Given the description of an element on the screen output the (x, y) to click on. 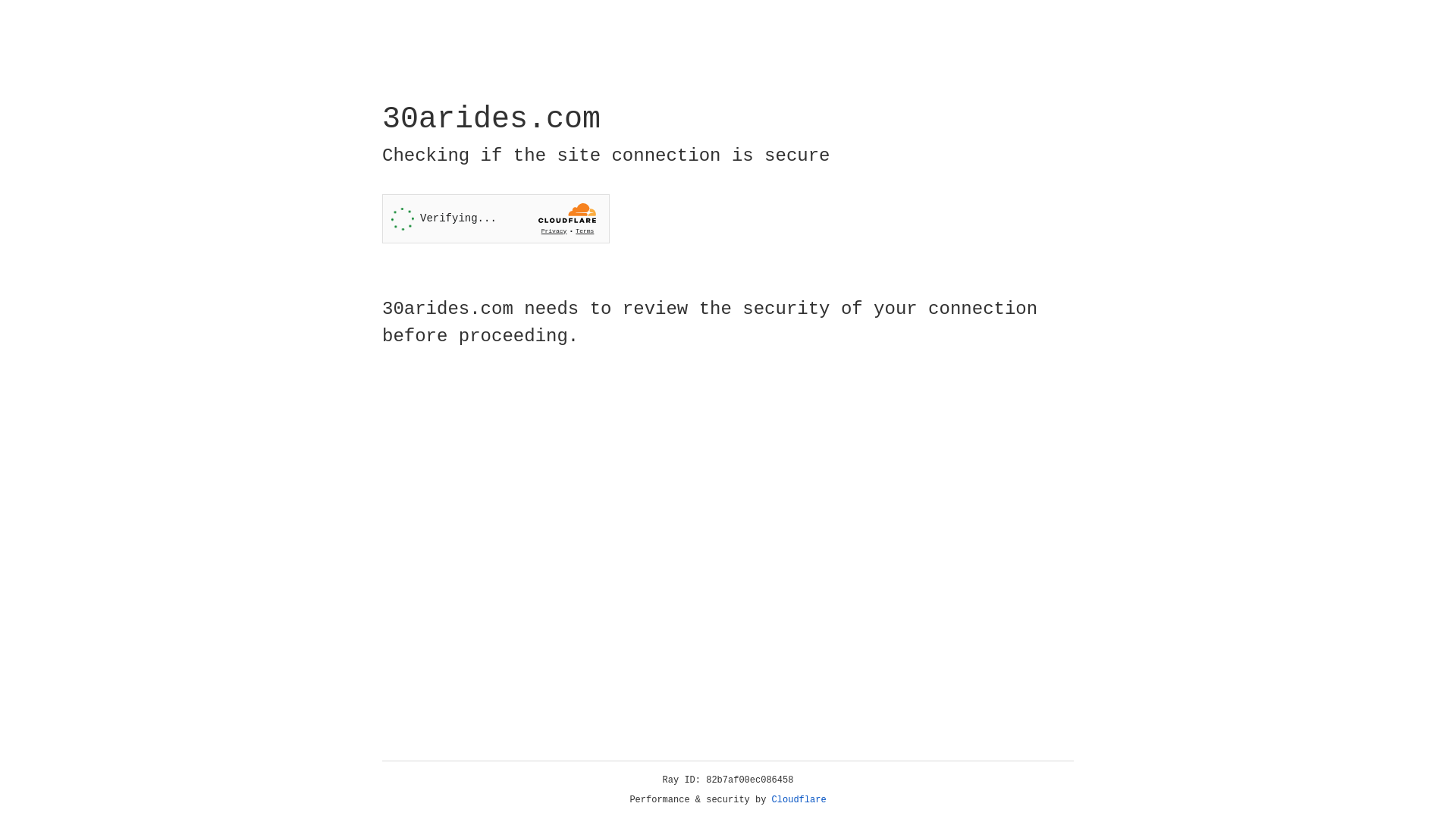
Widget containing a Cloudflare security challenge Element type: hover (495, 218)
Cloudflare Element type: text (798, 799)
